Given the description of an element on the screen output the (x, y) to click on. 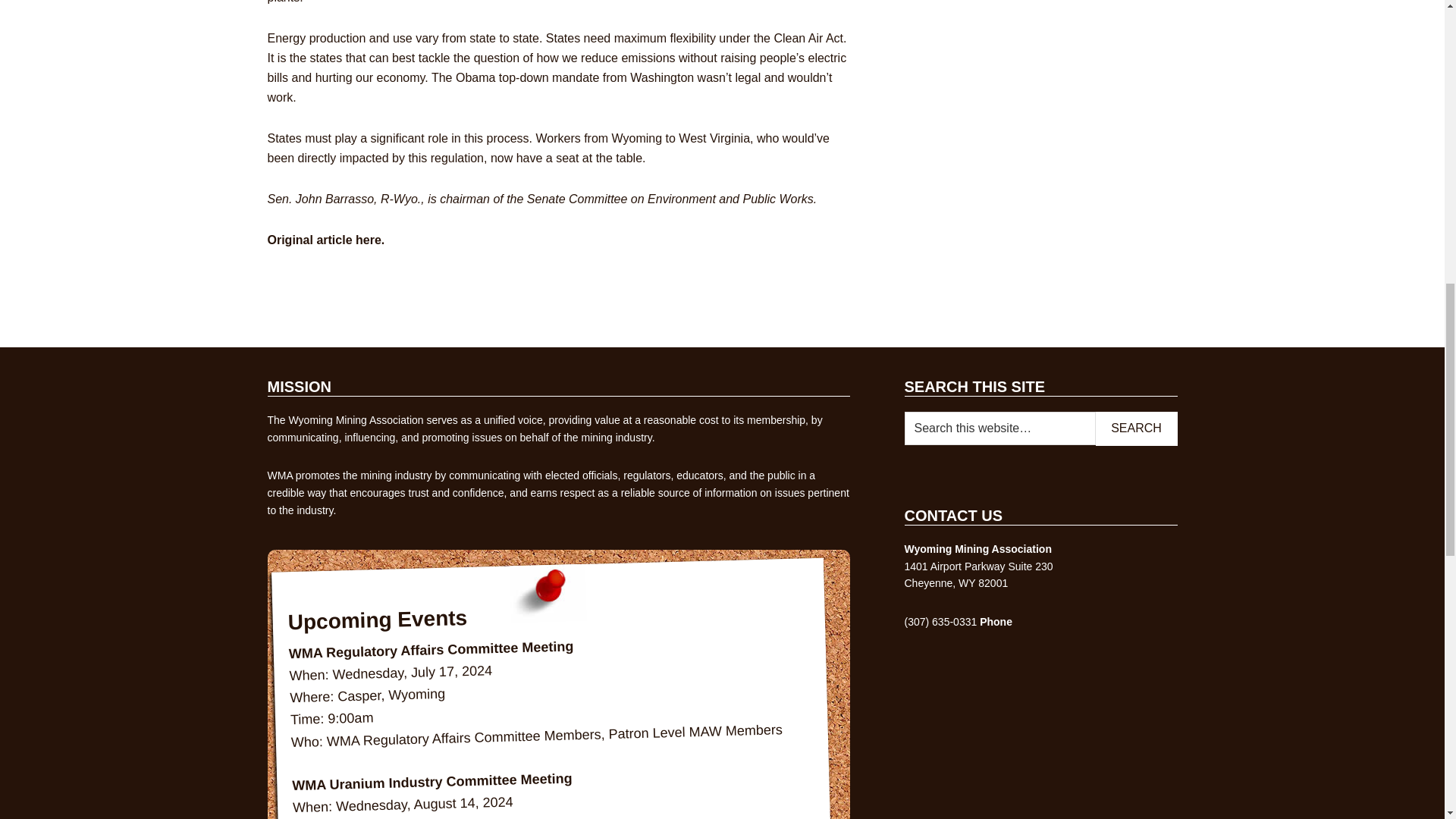
Search (1135, 428)
